Given the description of an element on the screen output the (x, y) to click on. 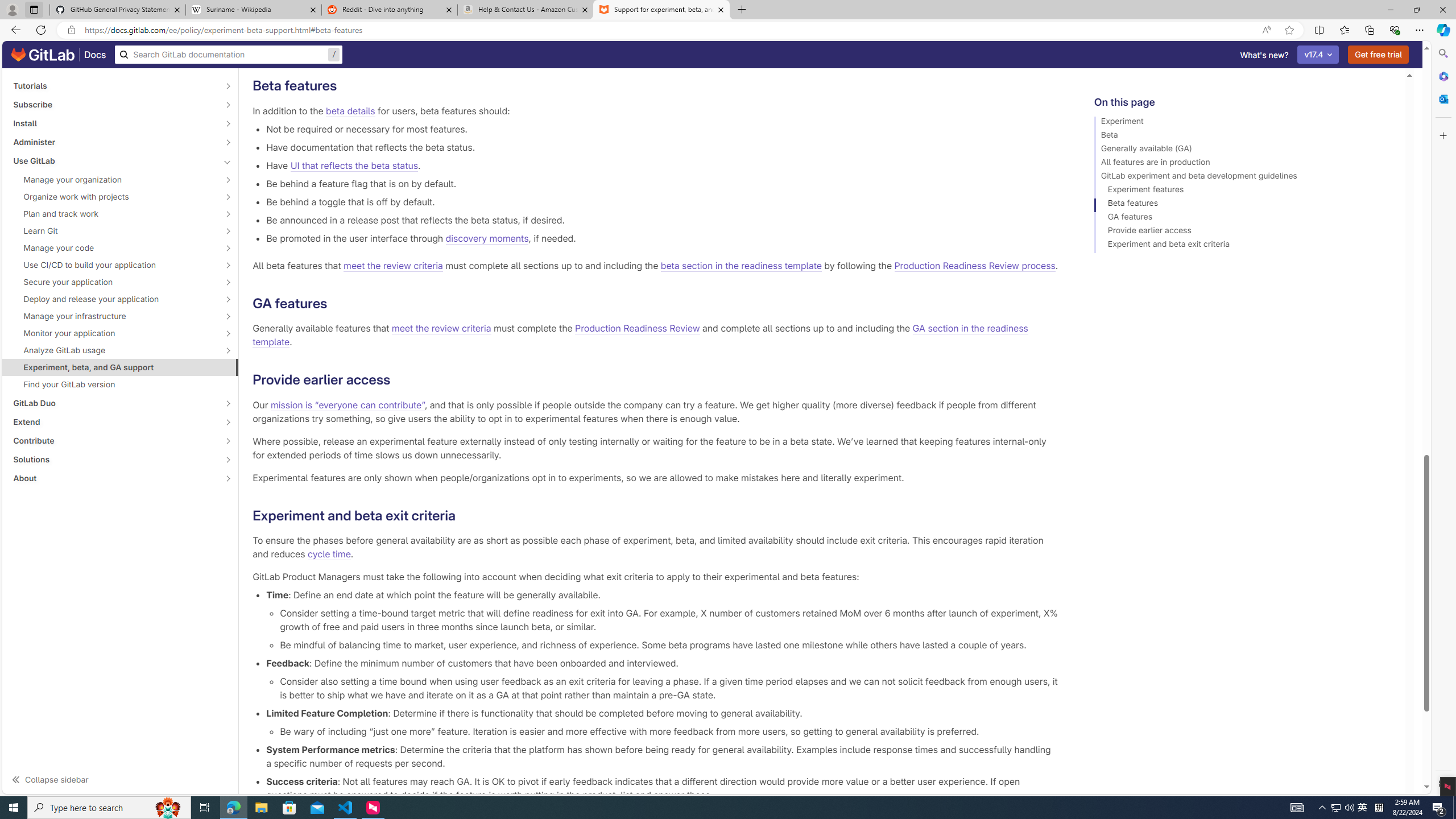
Learn Git (113, 230)
beta details (350, 110)
v17.4 (1318, 54)
Manage your code (113, 247)
Organize work with projects (113, 196)
Beta (1244, 136)
All features are in production (1244, 164)
Use GitLab (113, 160)
Solutions (113, 459)
Analyze GitLab usage (113, 349)
GitLab experiment and beta development guidelines (1244, 177)
